Given the description of an element on the screen output the (x, y) to click on. 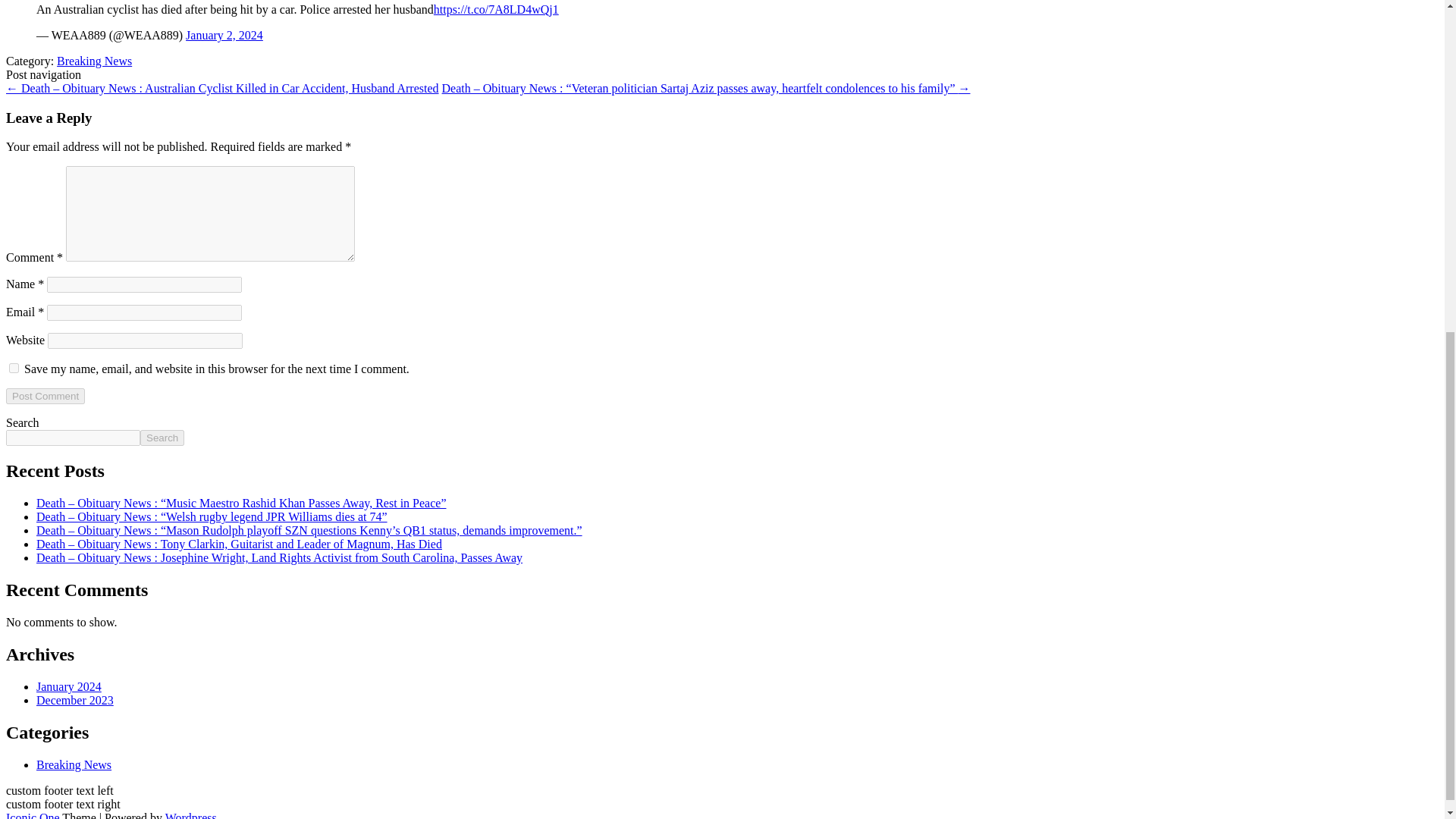
January 2024 (68, 686)
Breaking News (94, 60)
yes (13, 368)
Post Comment (44, 396)
Post Comment (44, 396)
Search (161, 437)
Breaking News (74, 763)
January 2, 2024 (224, 34)
December 2023 (74, 699)
